Given the description of an element on the screen output the (x, y) to click on. 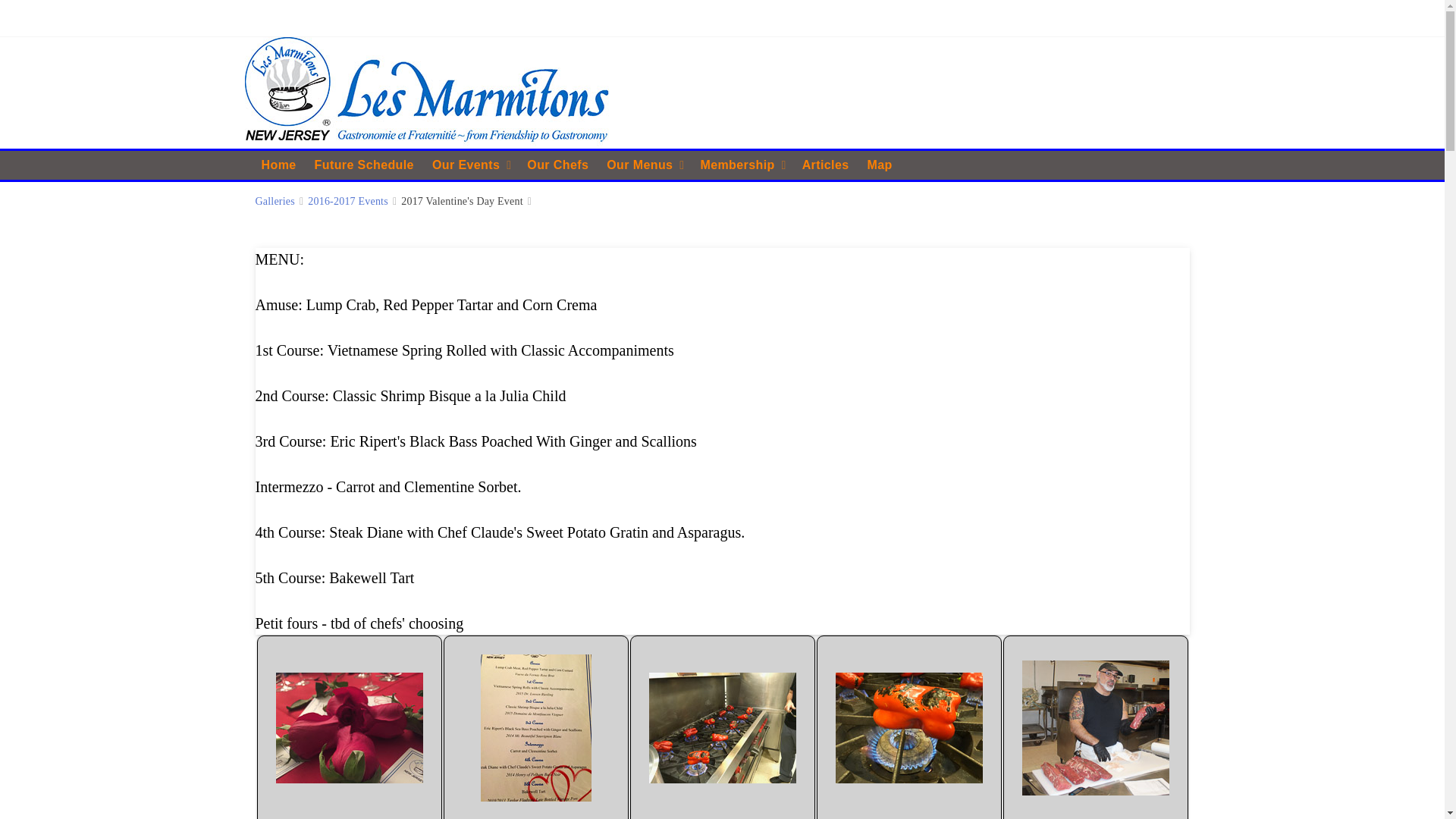
Eric is our meat master. (1095, 727)
This is our 2017 Valentine's Day Event. (349, 727)
2016-2017 Events (347, 201)
Galleries (274, 201)
Up close and hot! (908, 727)
